Given the description of an element on the screen output the (x, y) to click on. 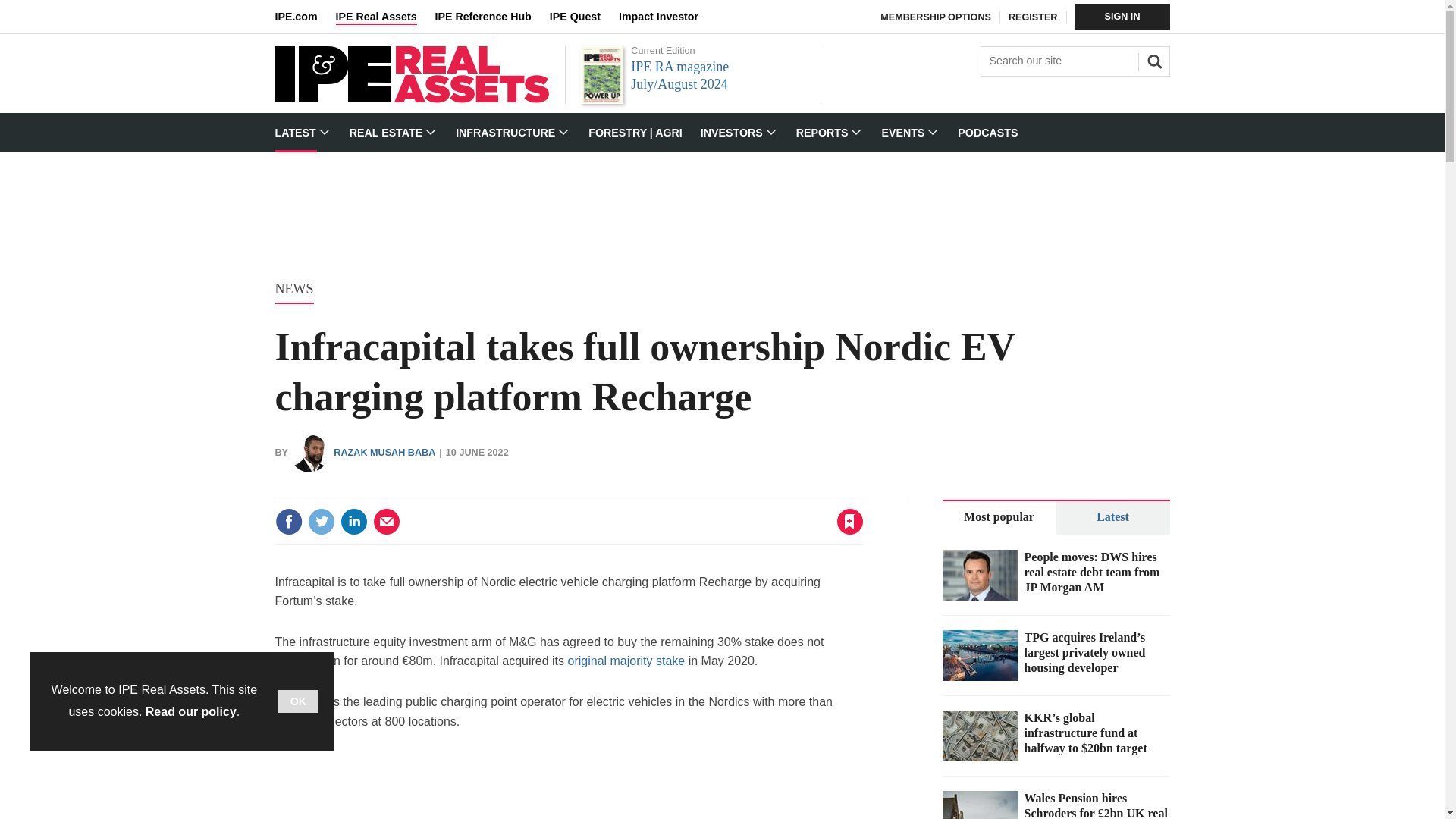
IPE Quest (583, 16)
Impact Investor (667, 16)
IPE Reference Hub (491, 16)
3rd party ad content (721, 201)
3rd party ad content (568, 785)
MEMBERSHIP OPTIONS (935, 17)
Share this on Linked in (352, 521)
IPE.com (304, 16)
Email this article (386, 521)
REGISTER (1033, 17)
